Given the description of an element on the screen output the (x, y) to click on. 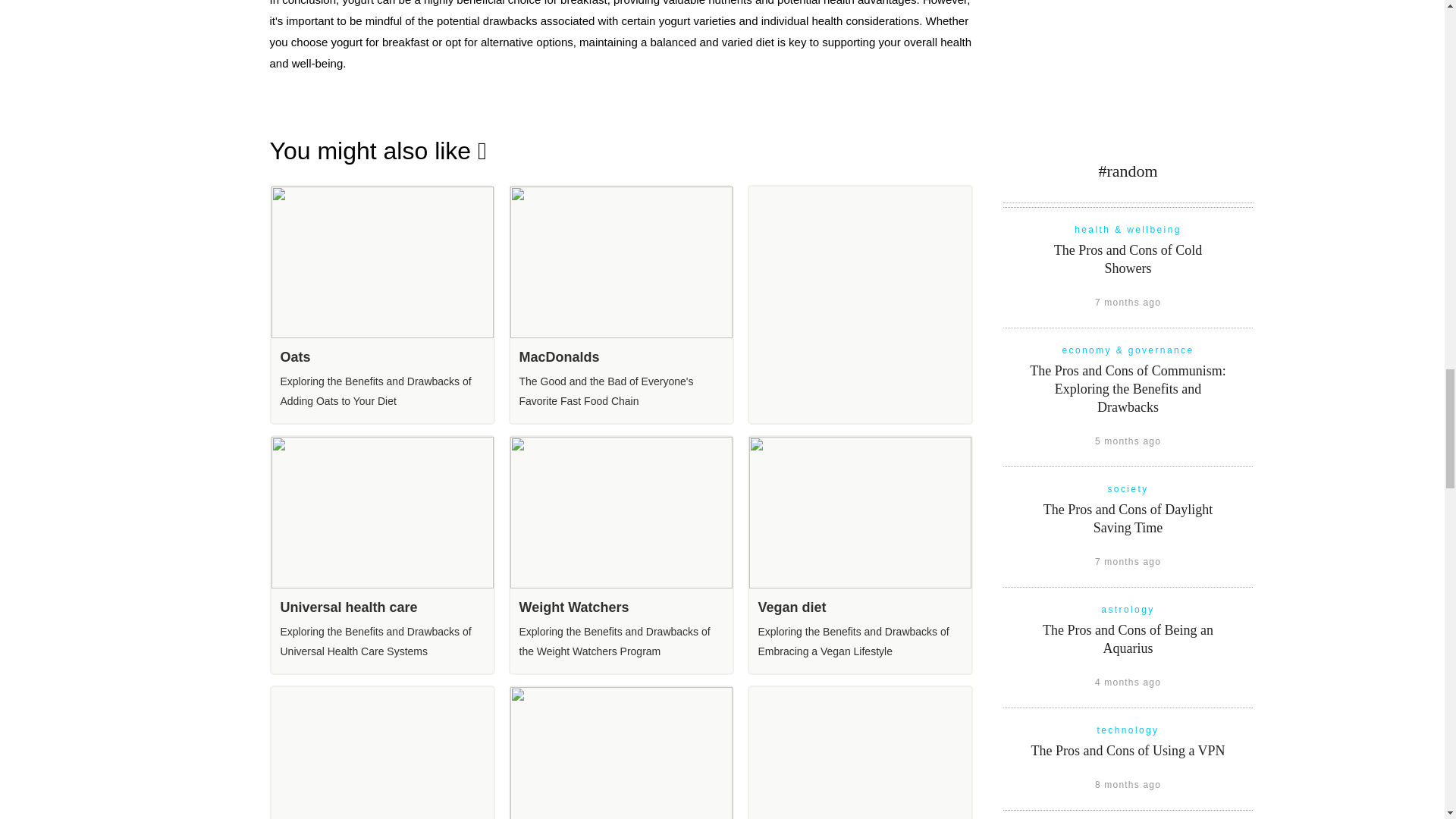
The Pros and Cons of Being an Aquarius (1127, 639)
The Pros and Cons of Daylight Saving Time (1127, 518)
The Pros and Cons of Using a VPN (1127, 750)
The Pros and Cons of Cold Showers (1128, 259)
